Given the description of an element on the screen output the (x, y) to click on. 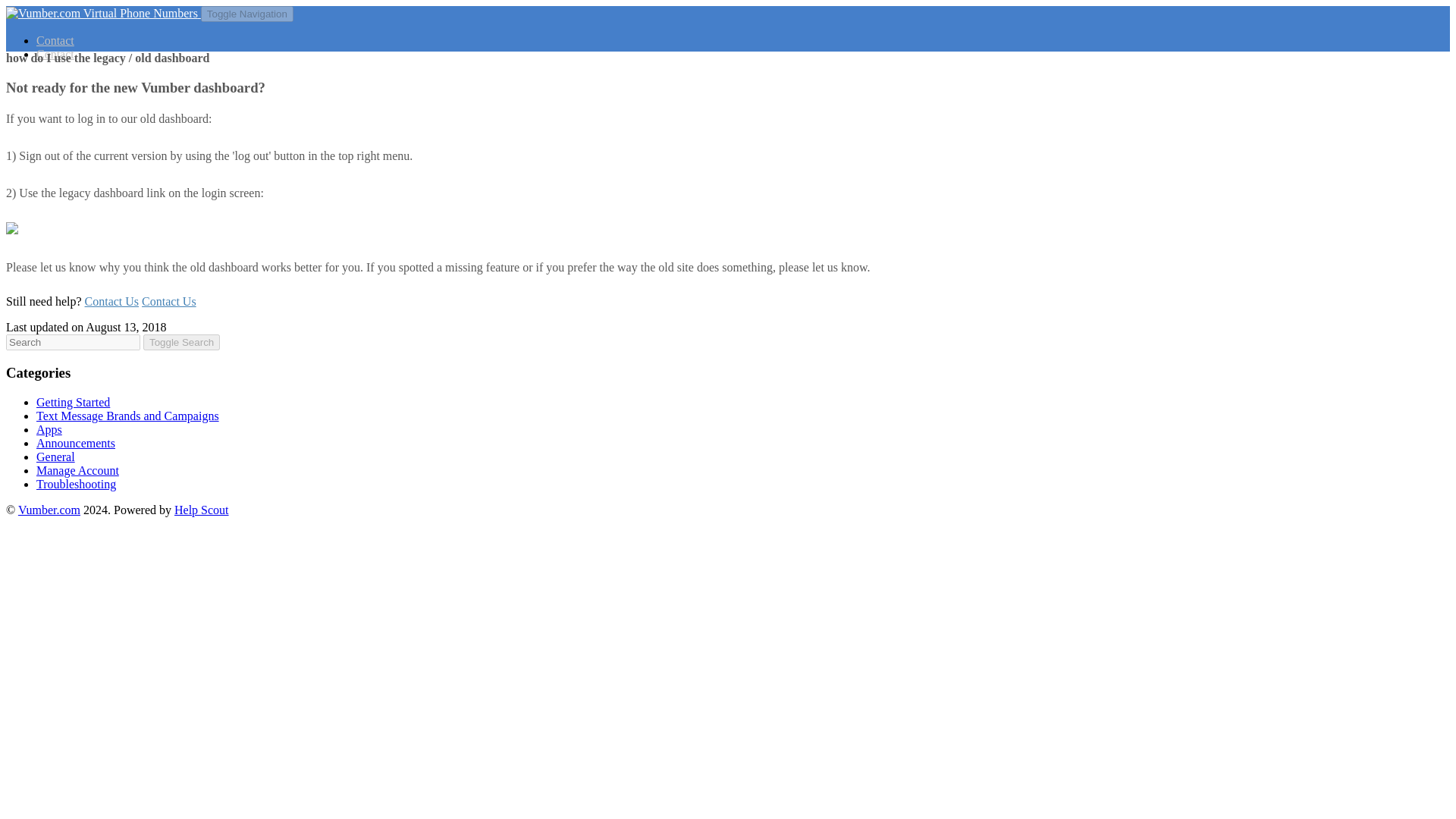
Toggle Search (180, 342)
Contact (55, 53)
Troubleshooting (76, 483)
Text Message Brands and Campaigns (127, 415)
Apps (49, 429)
Manage Account (77, 470)
Getting Started (73, 401)
Contact (55, 40)
Toggle Navigation (247, 13)
Contact Us (168, 300)
